Given the description of an element on the screen output the (x, y) to click on. 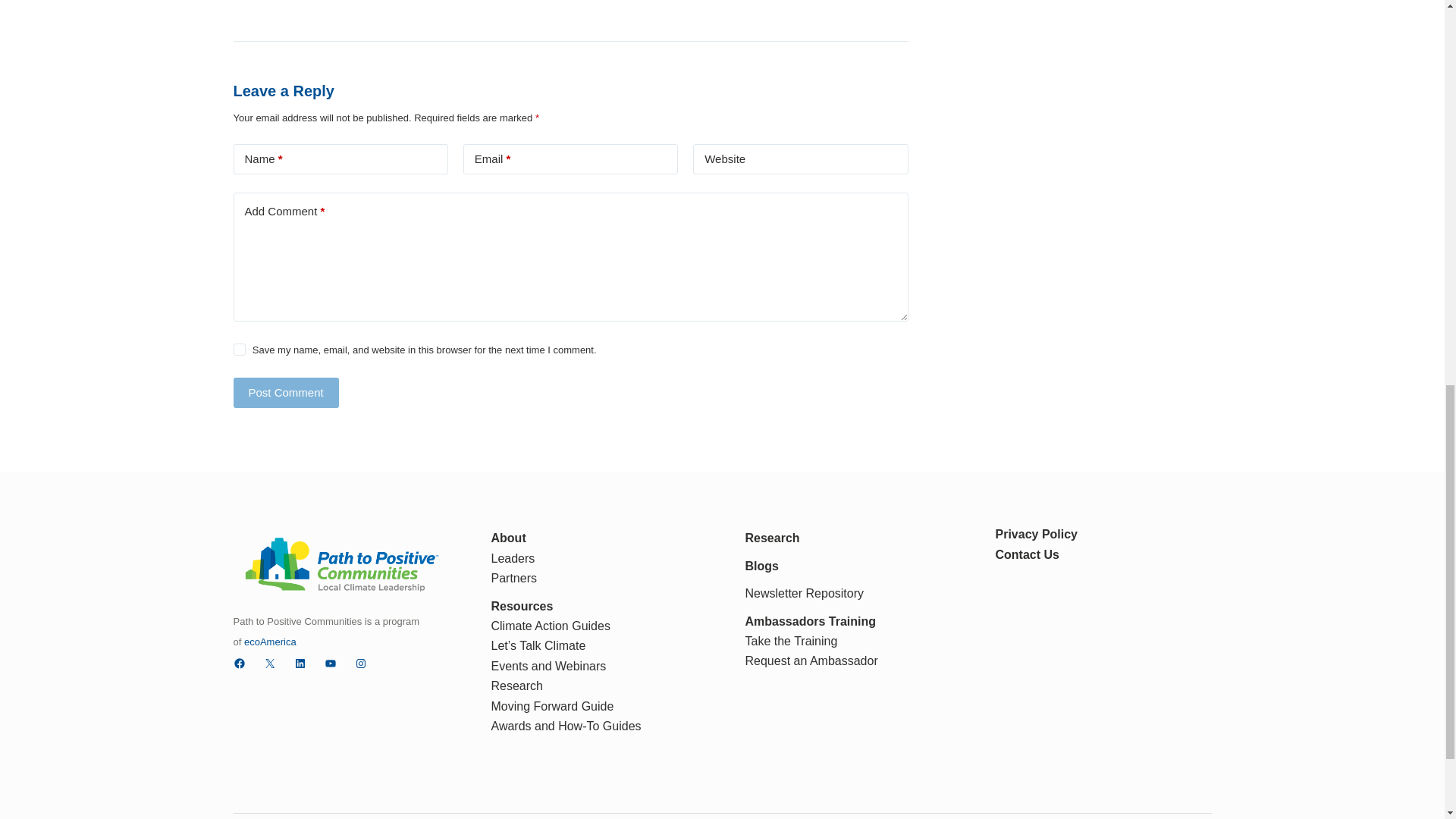
yes (239, 349)
